Given the description of an element on the screen output the (x, y) to click on. 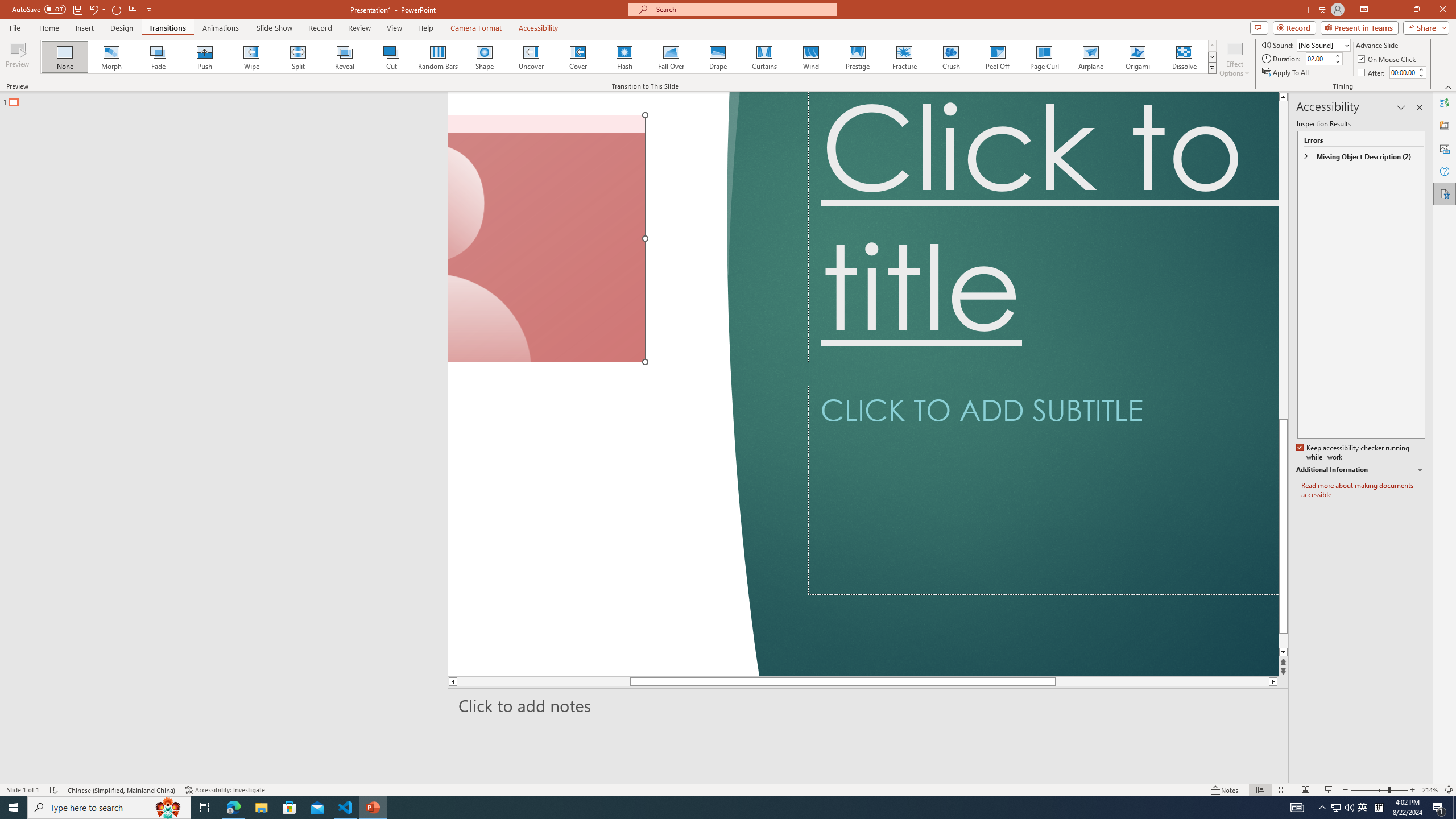
Less (1420, 75)
Camera 7, No camera detected. (546, 238)
Transition Effects (1212, 67)
Morph (111, 56)
Fade (158, 56)
Page Curl (1043, 56)
Effect Options (1234, 58)
Page up (1283, 266)
Curtains (764, 56)
